Given the description of an element on the screen output the (x, y) to click on. 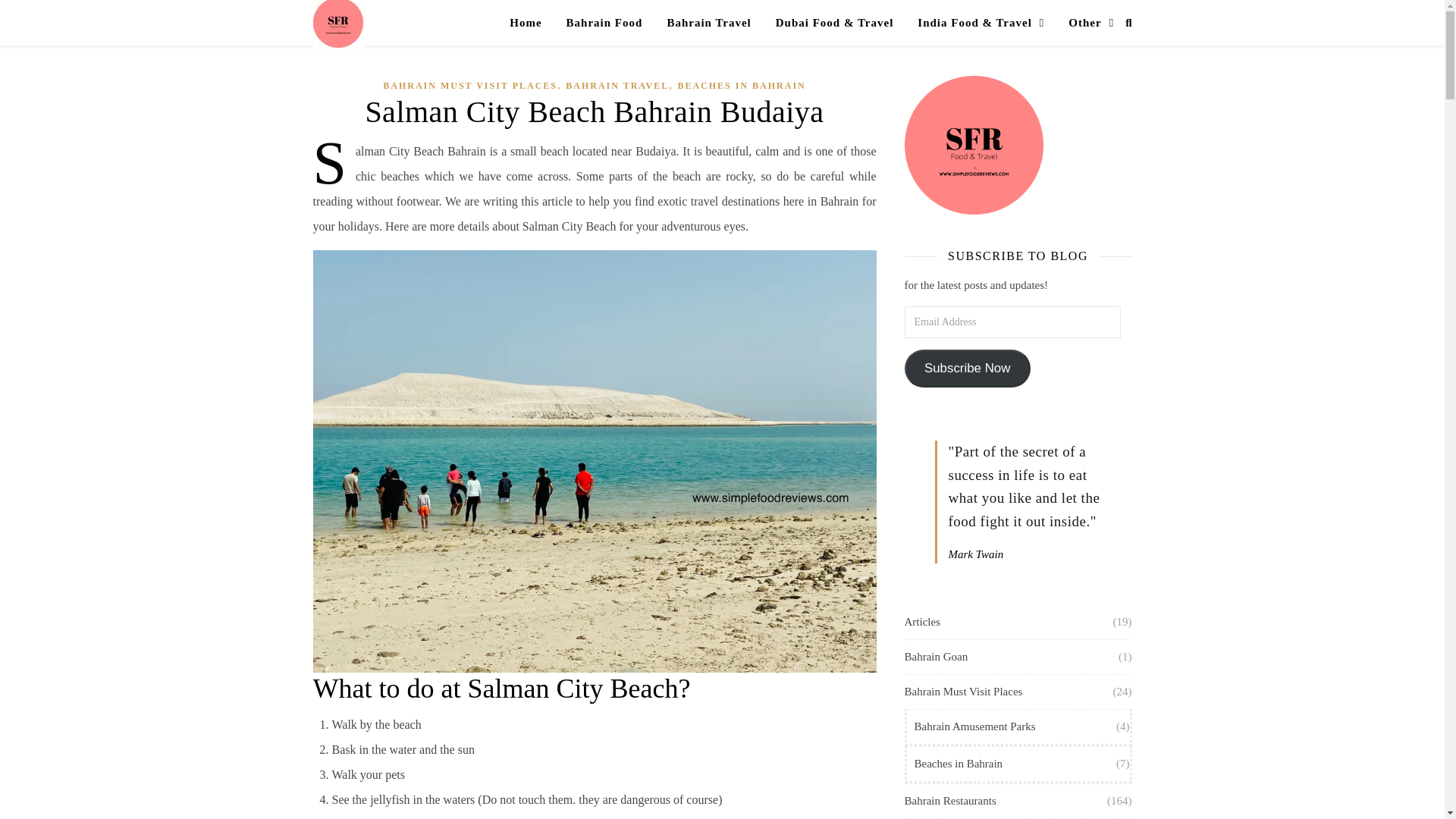
Bahrain Food (604, 22)
Home (531, 22)
Other (1085, 22)
Bahrain Travel (707, 22)
BAHRAIN MUST VISIT PLACES (469, 85)
BEACHES IN BAHRAIN (741, 85)
BAHRAIN TRAVEL (617, 85)
